Given the description of an element on the screen output the (x, y) to click on. 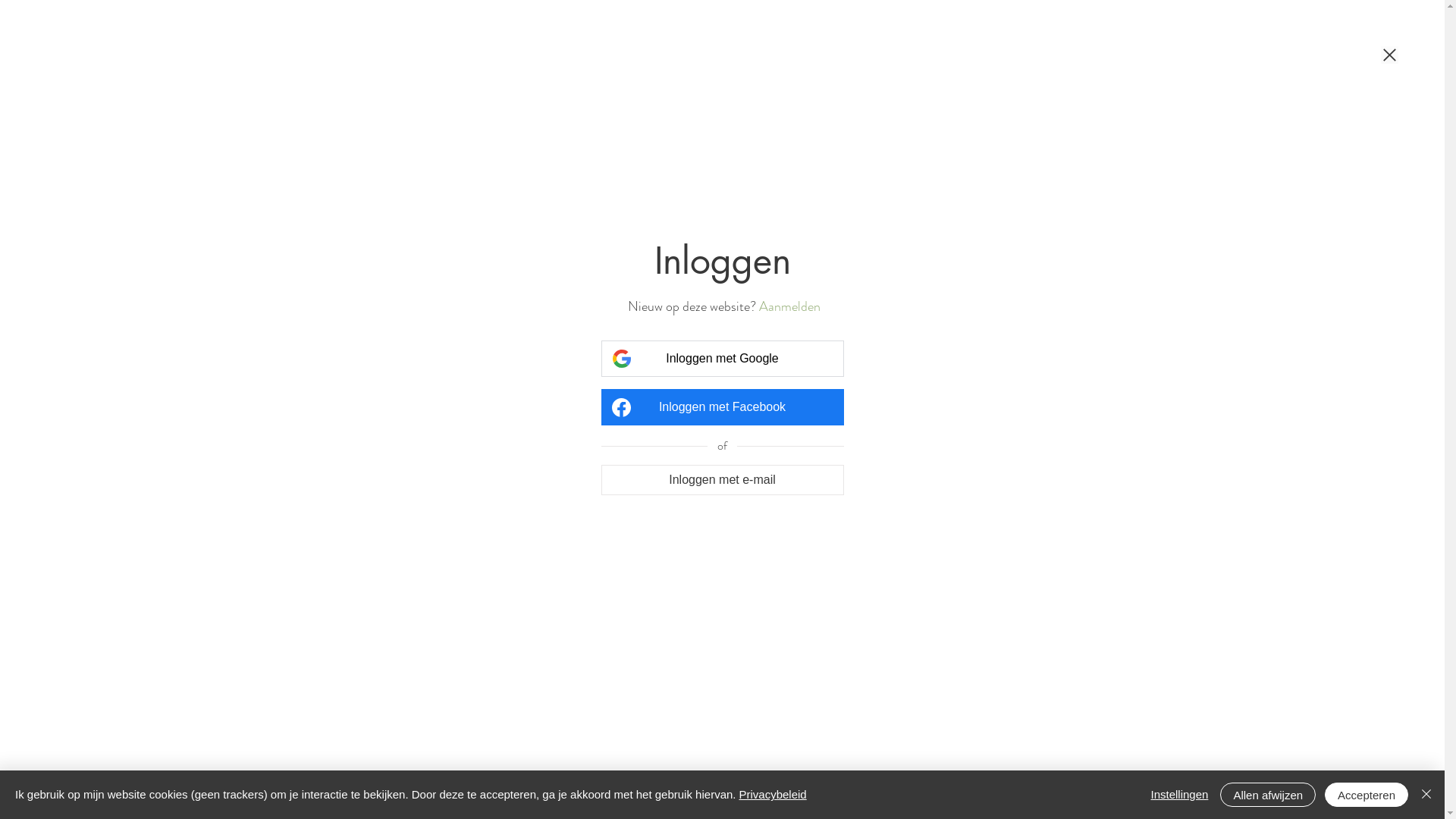
Allen afwijzen Element type: text (1267, 794)
Inloggen met Facebook Element type: text (721, 407)
Aanmelden Element type: text (788, 306)
Accepteren Element type: text (1366, 794)
Inloggen met Google Element type: text (721, 358)
Inloggen met e-mail Element type: text (721, 479)
Privacybeleid Element type: text (772, 793)
